Given the description of an element on the screen output the (x, y) to click on. 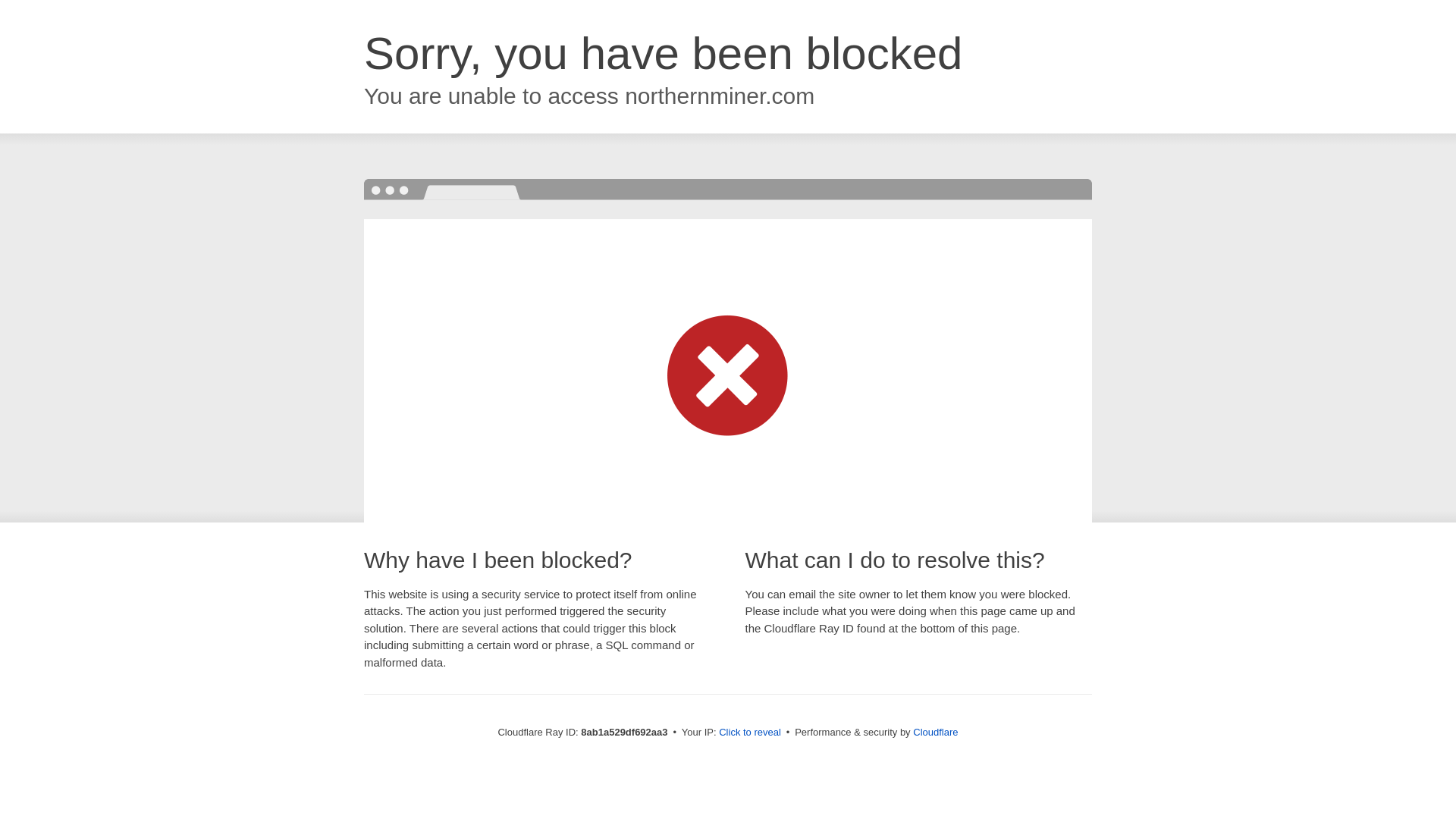
Cloudflare (935, 731)
Click to reveal (749, 732)
